Given the description of an element on the screen output the (x, y) to click on. 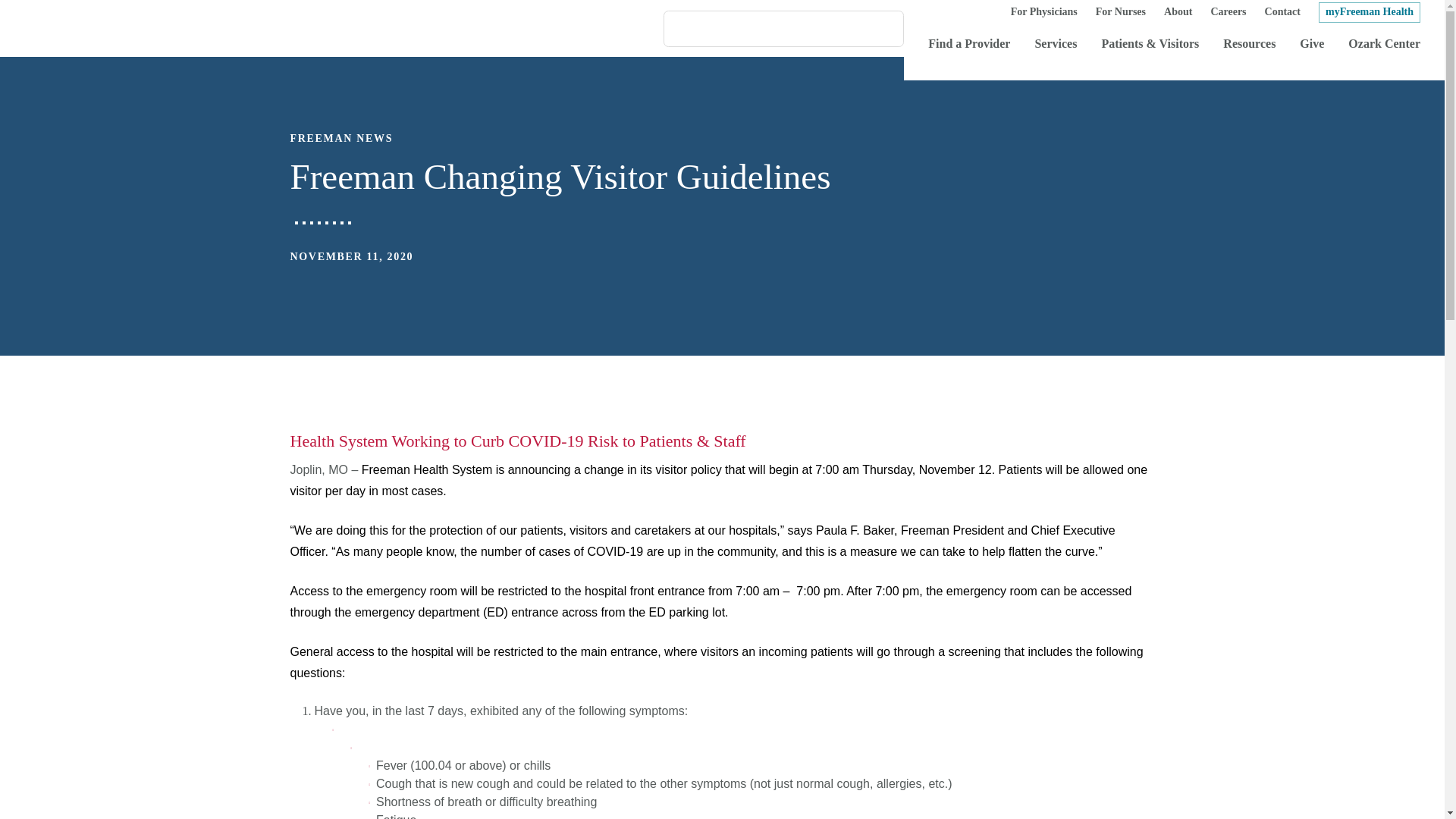
Home (56, 28)
About (1177, 12)
For Nurses (1120, 12)
For Physicians (1043, 12)
Careers (1227, 12)
myFreeman Health (1370, 12)
Services (1055, 44)
Contact (1282, 12)
Find a Provider (969, 44)
